Given the description of an element on the screen output the (x, y) to click on. 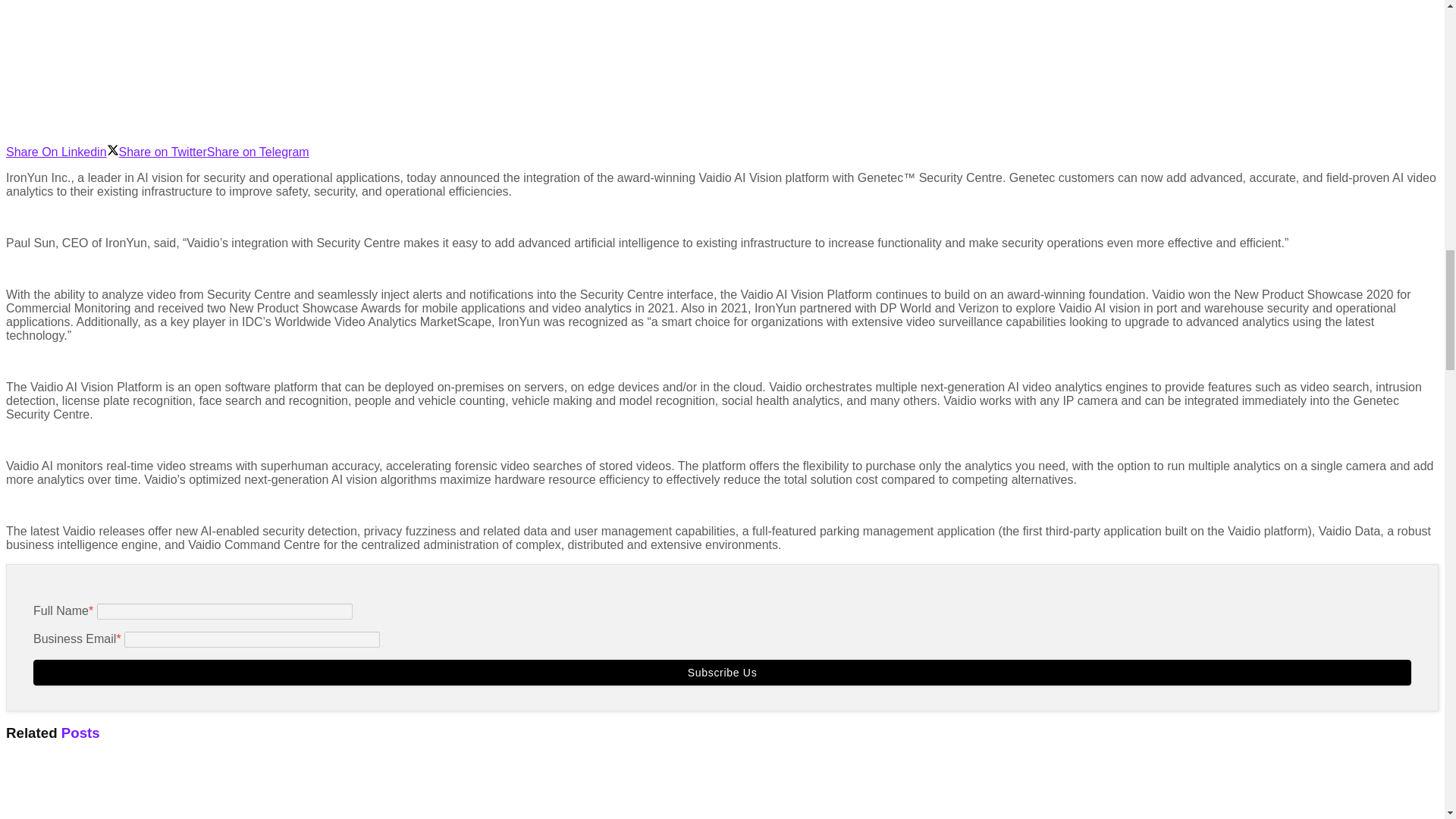
Subscribe Us (721, 672)
